Given the description of an element on the screen output the (x, y) to click on. 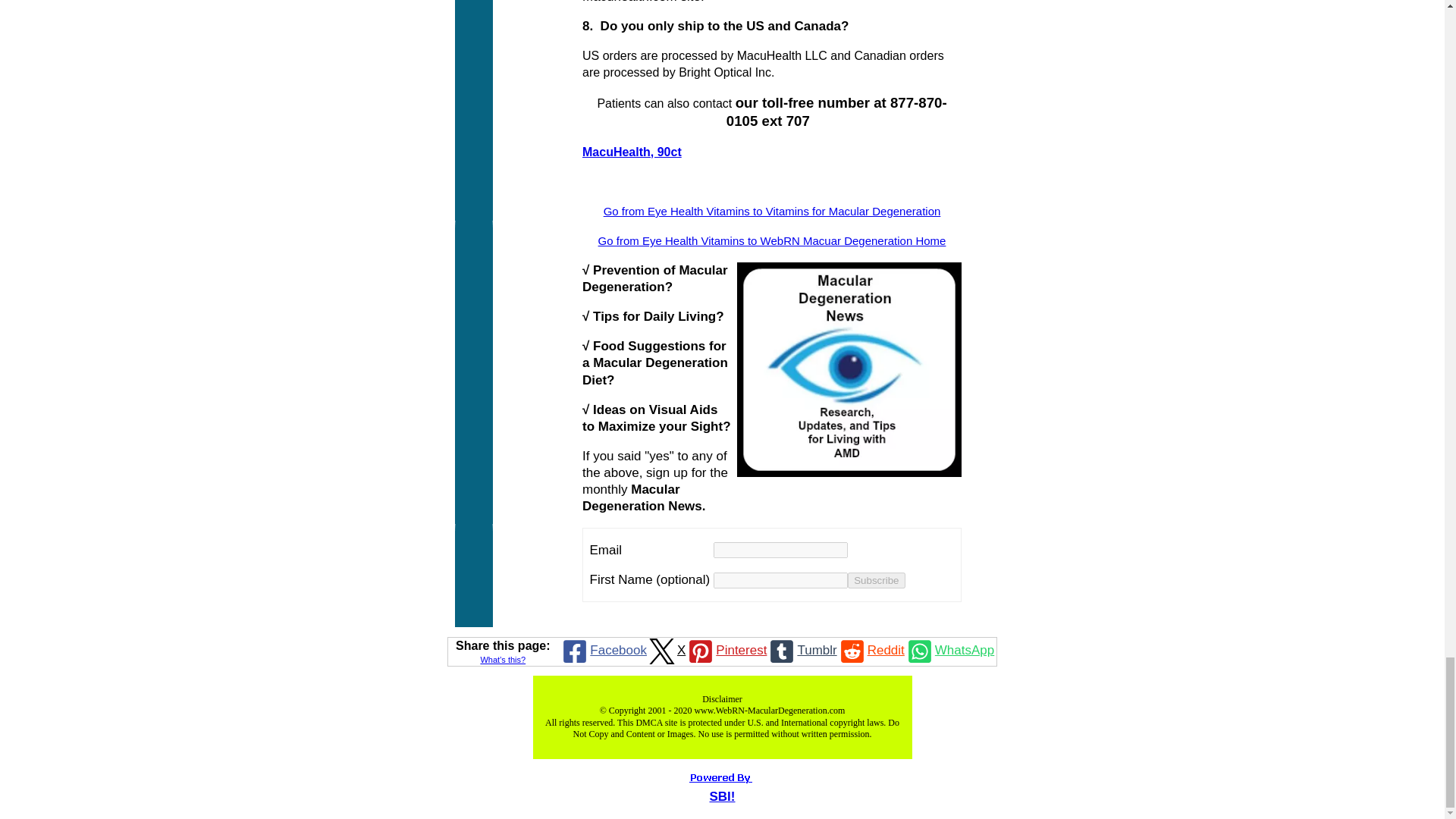
MacuHealth, 90ct (631, 151)
X (665, 651)
Facebook (602, 651)
macular degeneration news (848, 369)
Subscribe (875, 580)
